Given the description of an element on the screen output the (x, y) to click on. 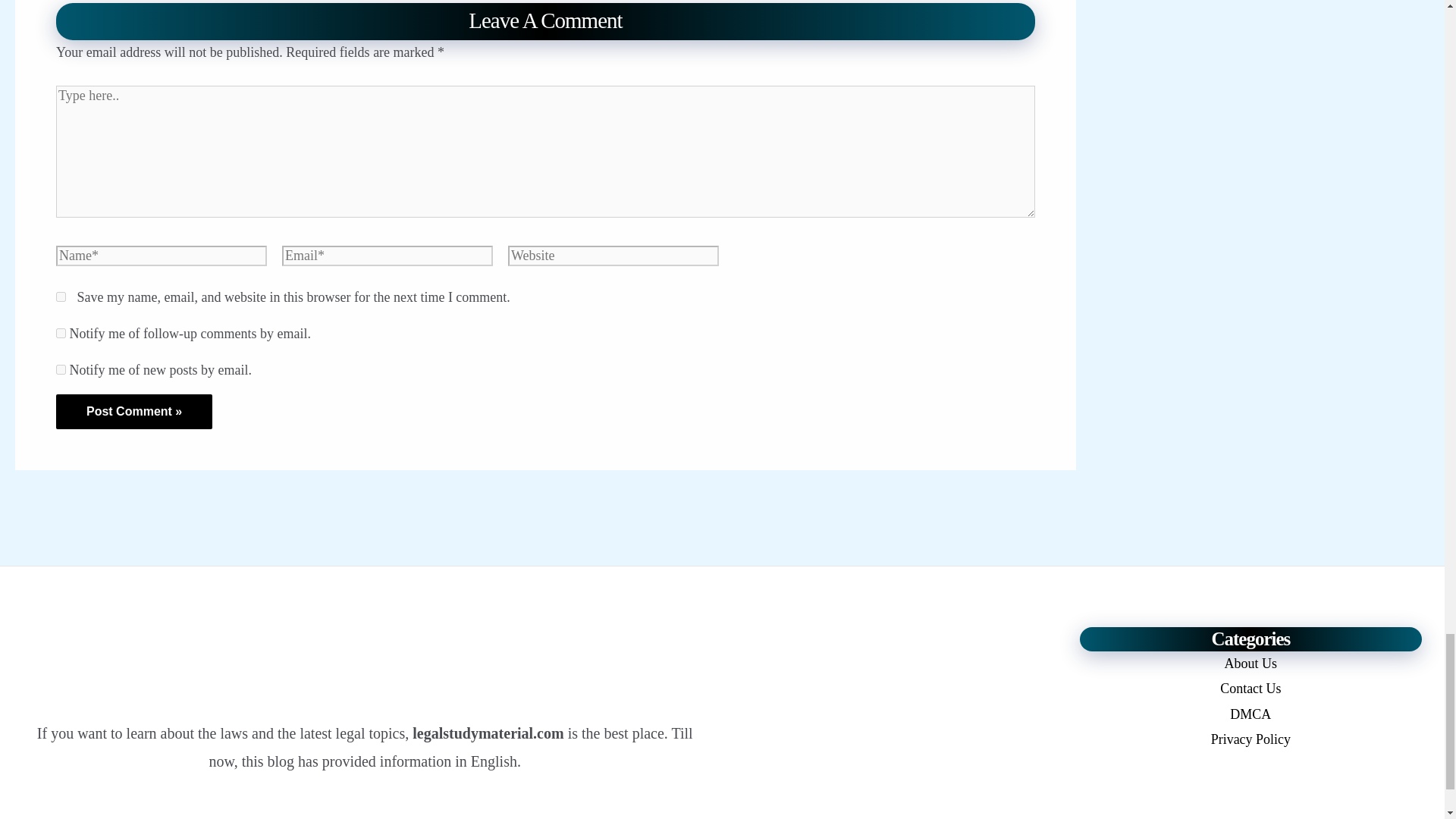
yes (60, 296)
subscribe (60, 369)
subscribe (60, 333)
